Given the description of an element on the screen output the (x, y) to click on. 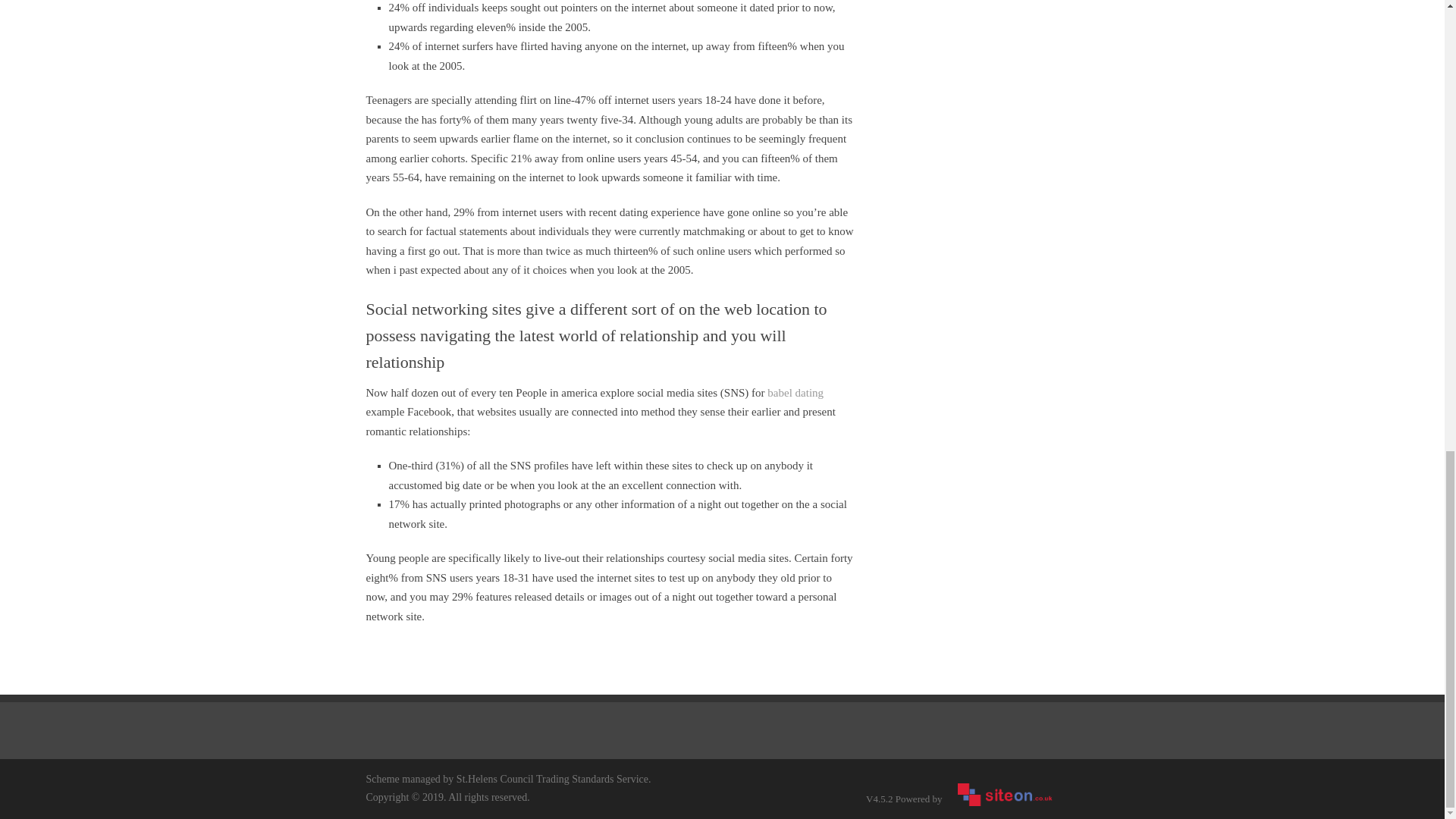
babel dating (795, 392)
